Given the description of an element on the screen output the (x, y) to click on. 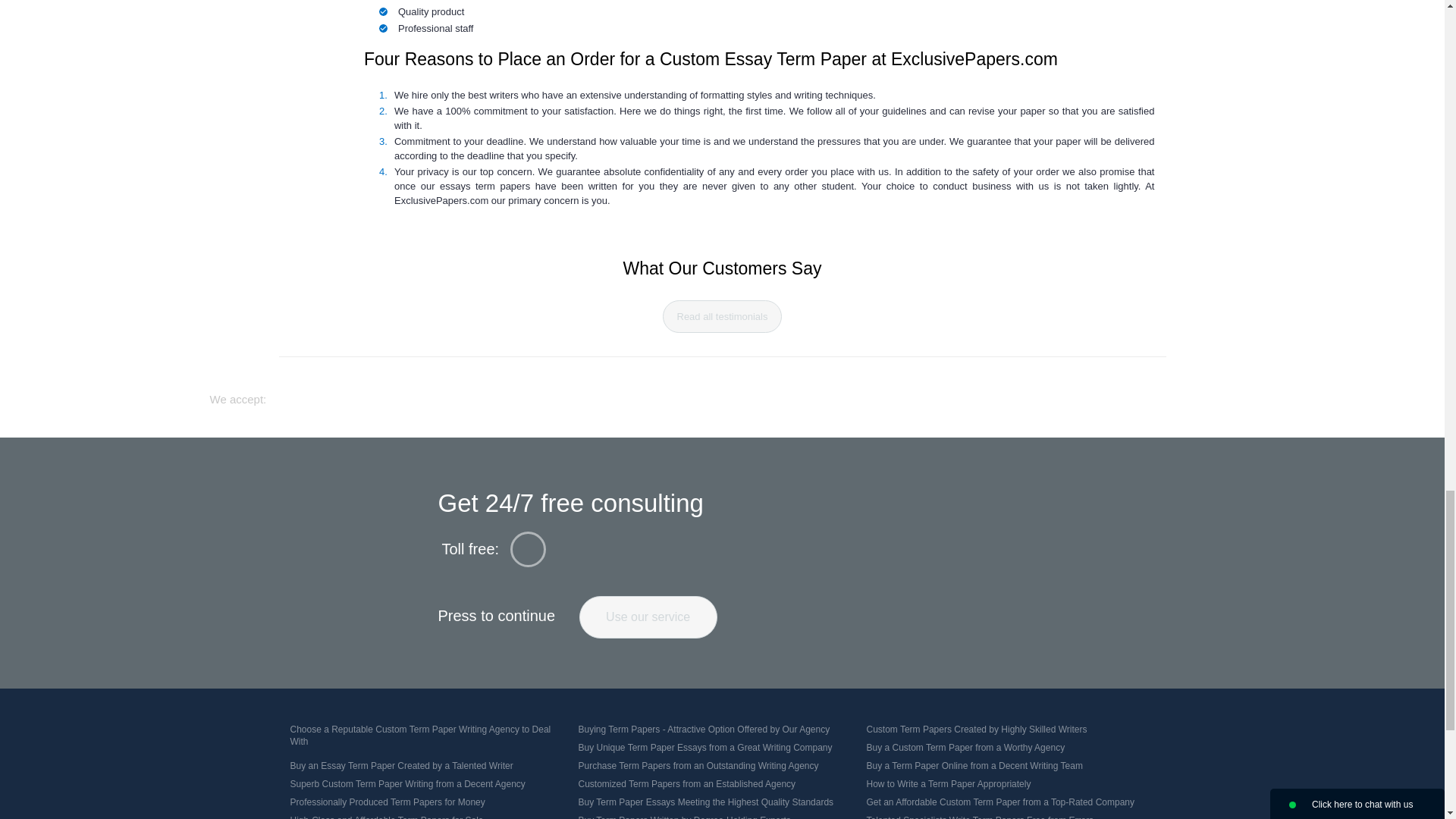
Apple pay (842, 393)
Credit and debit cards by MasterCard (695, 393)
Read all testimonials (722, 316)
Credit cards by American Express (783, 393)
Credit and debit cards by Visa (607, 393)
